Given the description of an element on the screen output the (x, y) to click on. 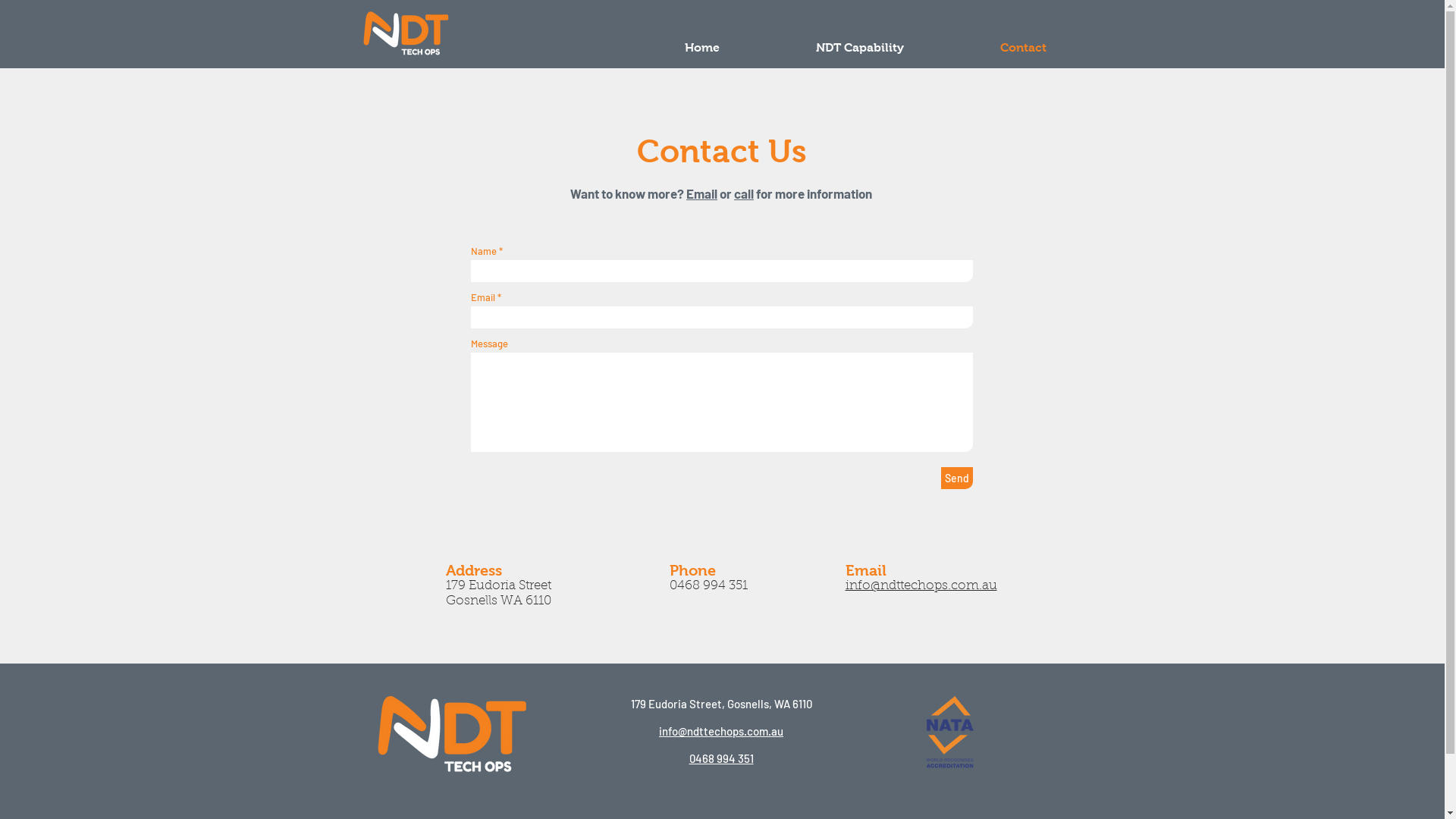
Send Element type: text (956, 478)
Home Element type: text (702, 46)
NDT Capability Element type: text (859, 46)
0468 994 351 Element type: text (707, 585)
Contact Element type: text (1023, 46)
info@ndttechops.com.au Element type: text (920, 585)
Email Element type: text (701, 192)
call Element type: text (743, 192)
info@ndttechops.com.au Element type: text (720, 730)
